Given the description of an element on the screen output the (x, y) to click on. 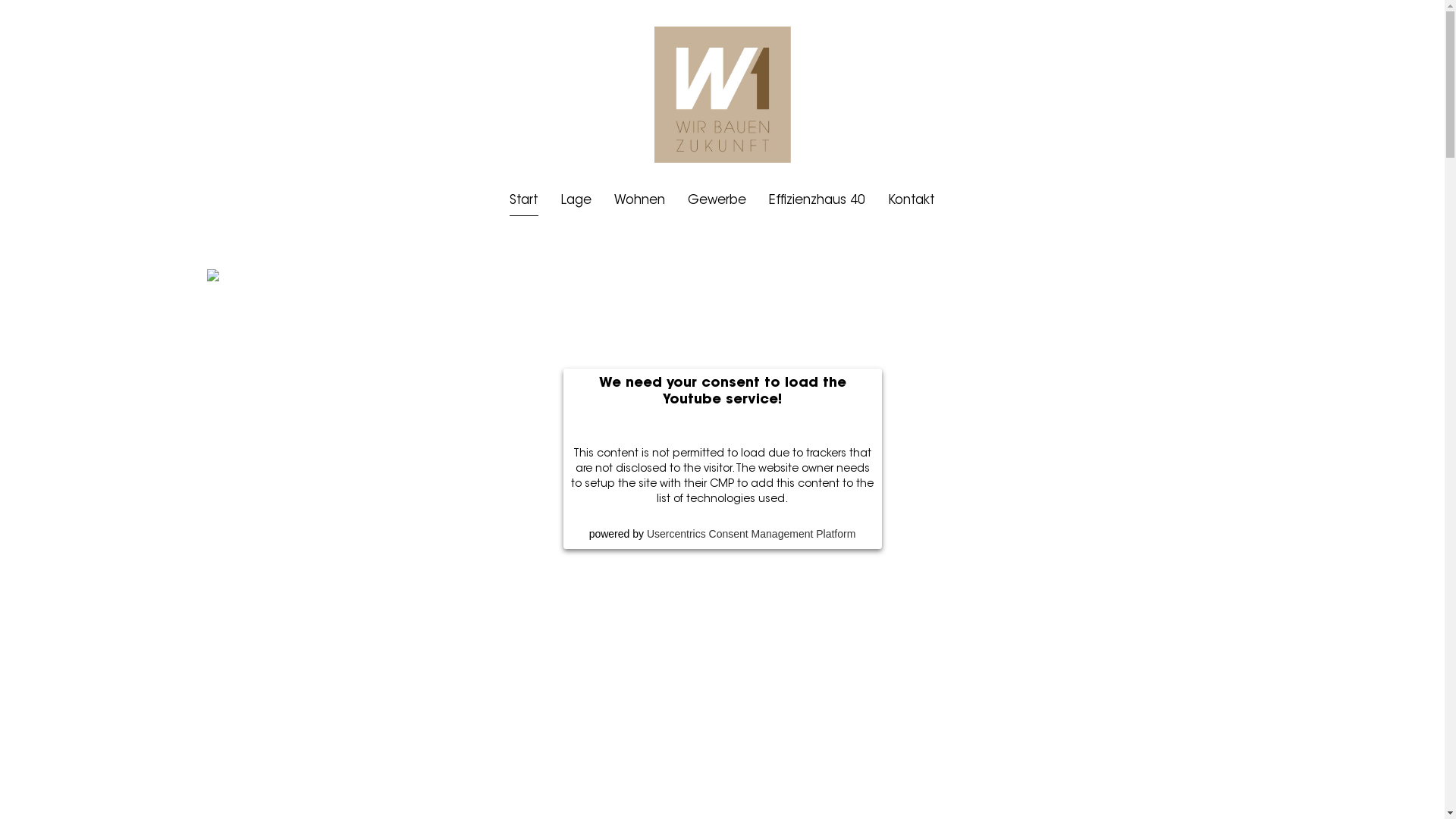
Effizienzhaus 40 Element type: text (816, 200)
Usercentrics Consent Management Platform Element type: text (750, 533)
Gewerbe Element type: text (716, 200)
Kontakt Element type: text (911, 200)
Start Element type: text (523, 200)
Wohnen Element type: text (639, 200)
Lage Element type: text (575, 200)
